Given the description of an element on the screen output the (x, y) to click on. 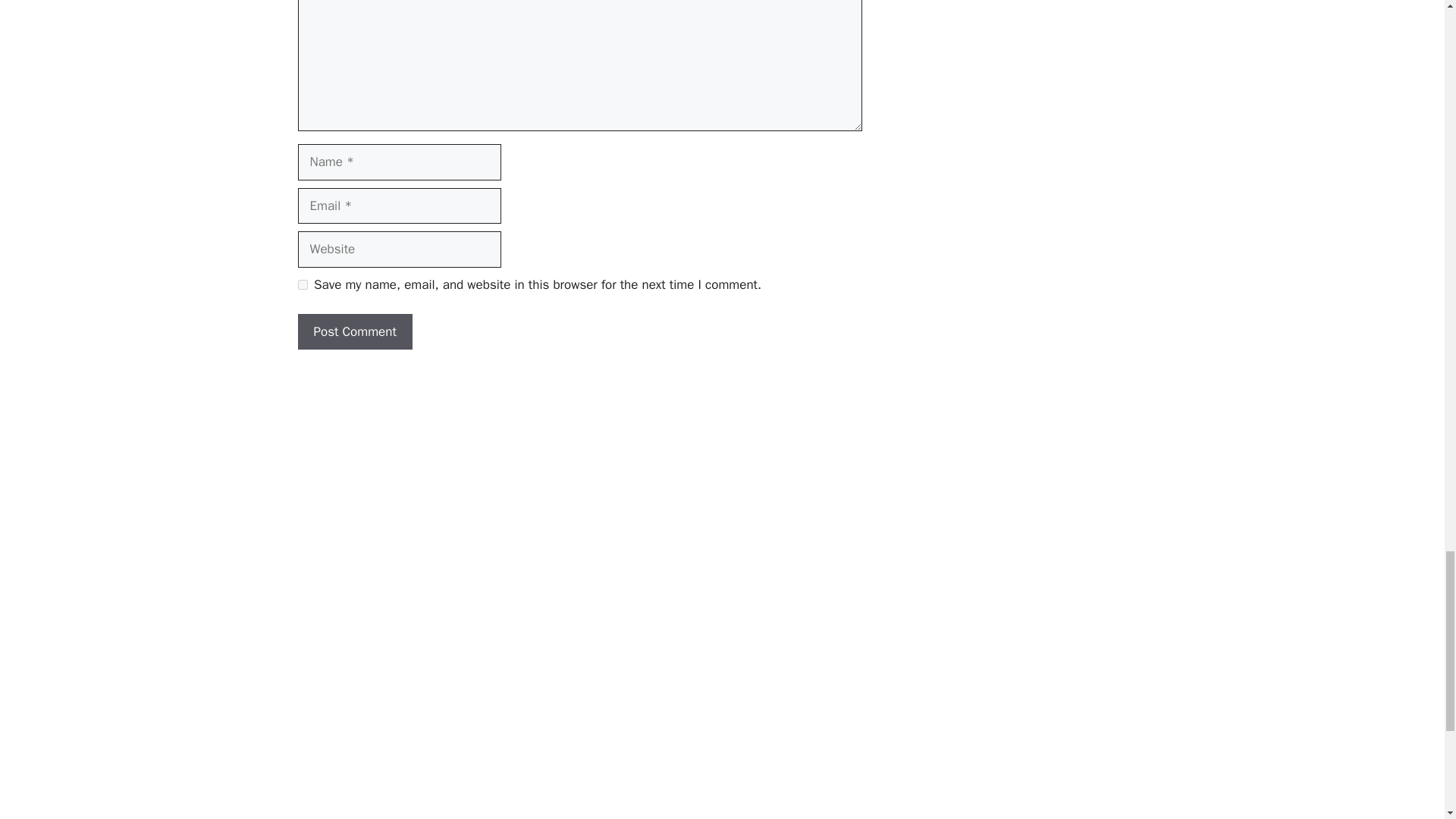
yes (302, 284)
Post Comment (354, 331)
